Given the description of an element on the screen output the (x, y) to click on. 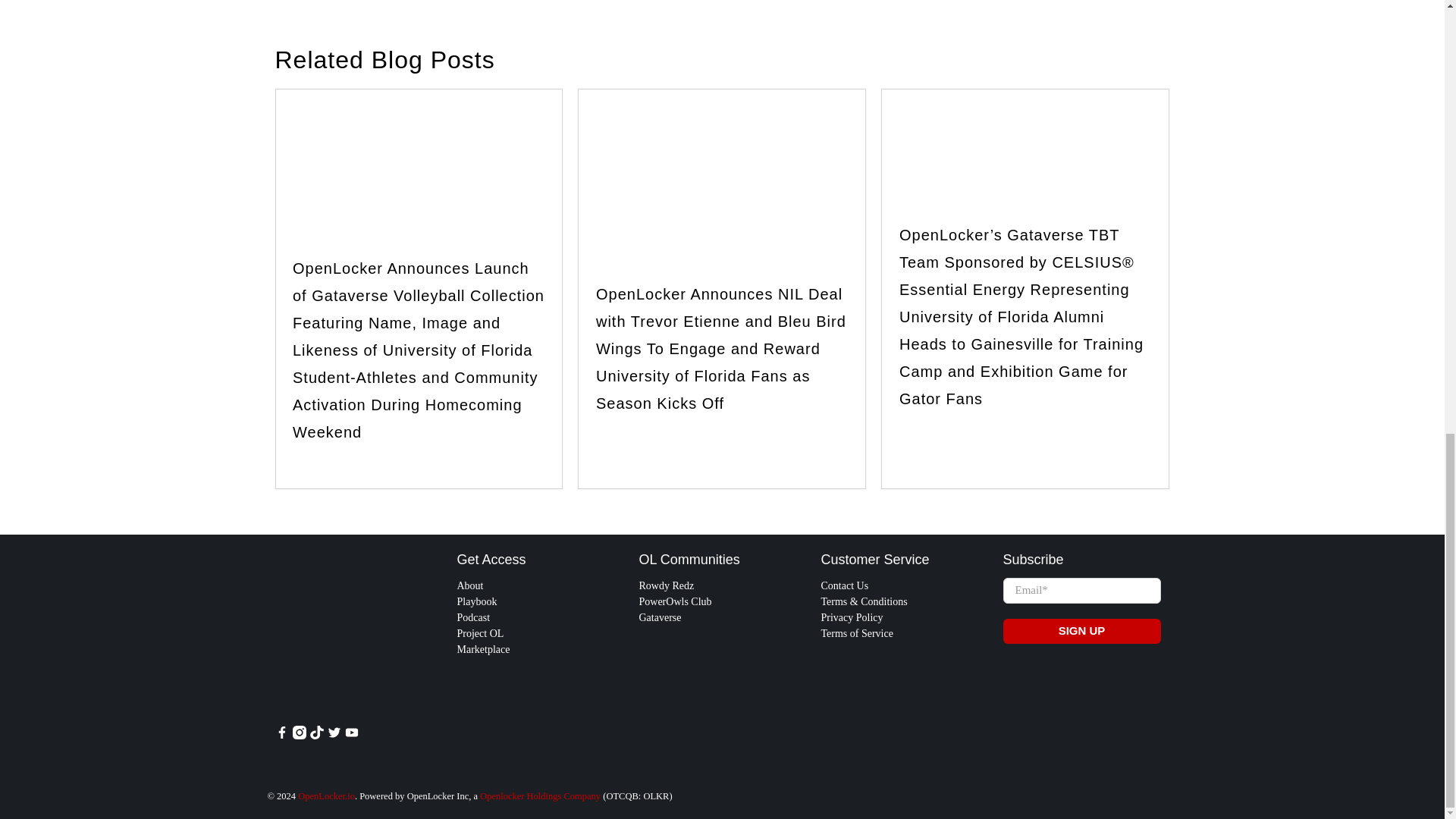
OpenLocker.io on TikTok (315, 736)
OpenLocker.io on Instagram (298, 736)
OpenLocker.io on Facebook (281, 736)
OpenLocker.io on YouTube (350, 736)
